Given the description of an element on the screen output the (x, y) to click on. 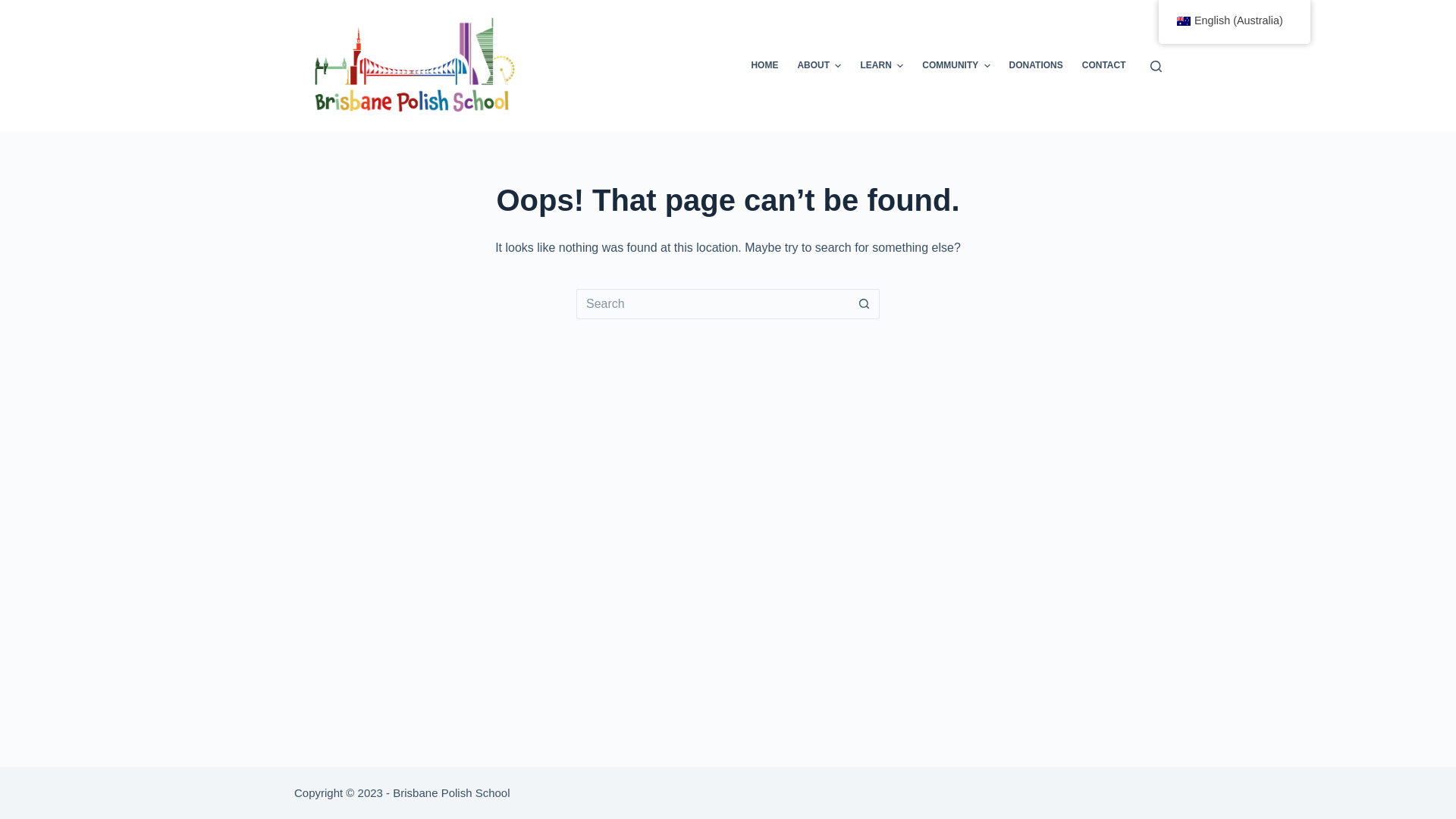
CONTACT Element type: text (1103, 65)
ABOUT Element type: text (818, 65)
English (Australia) Element type: text (1234, 21)
Search for... Element type: hover (712, 303)
DONATIONS Element type: text (1035, 65)
Skip to content Element type: text (15, 7)
English (Australia) Element type: hover (1183, 20)
COMMUNITY Element type: text (956, 65)
English (Australia) Element type: text (1234, 20)
HOME Element type: text (764, 65)
LEARN Element type: text (881, 65)
